Given the description of an element on the screen output the (x, y) to click on. 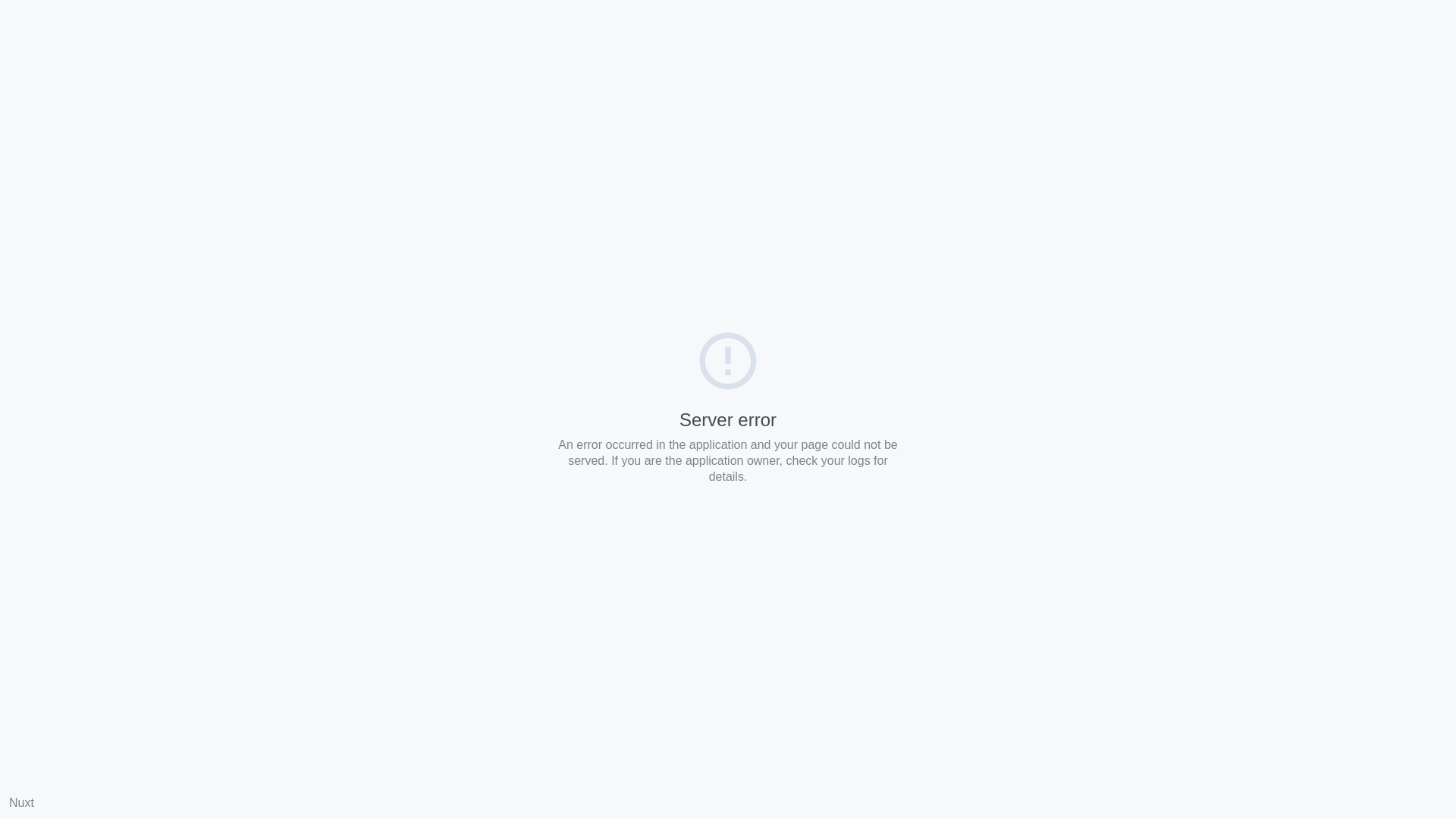
Nuxt Element type: text (21, 802)
